Given the description of an element on the screen output the (x, y) to click on. 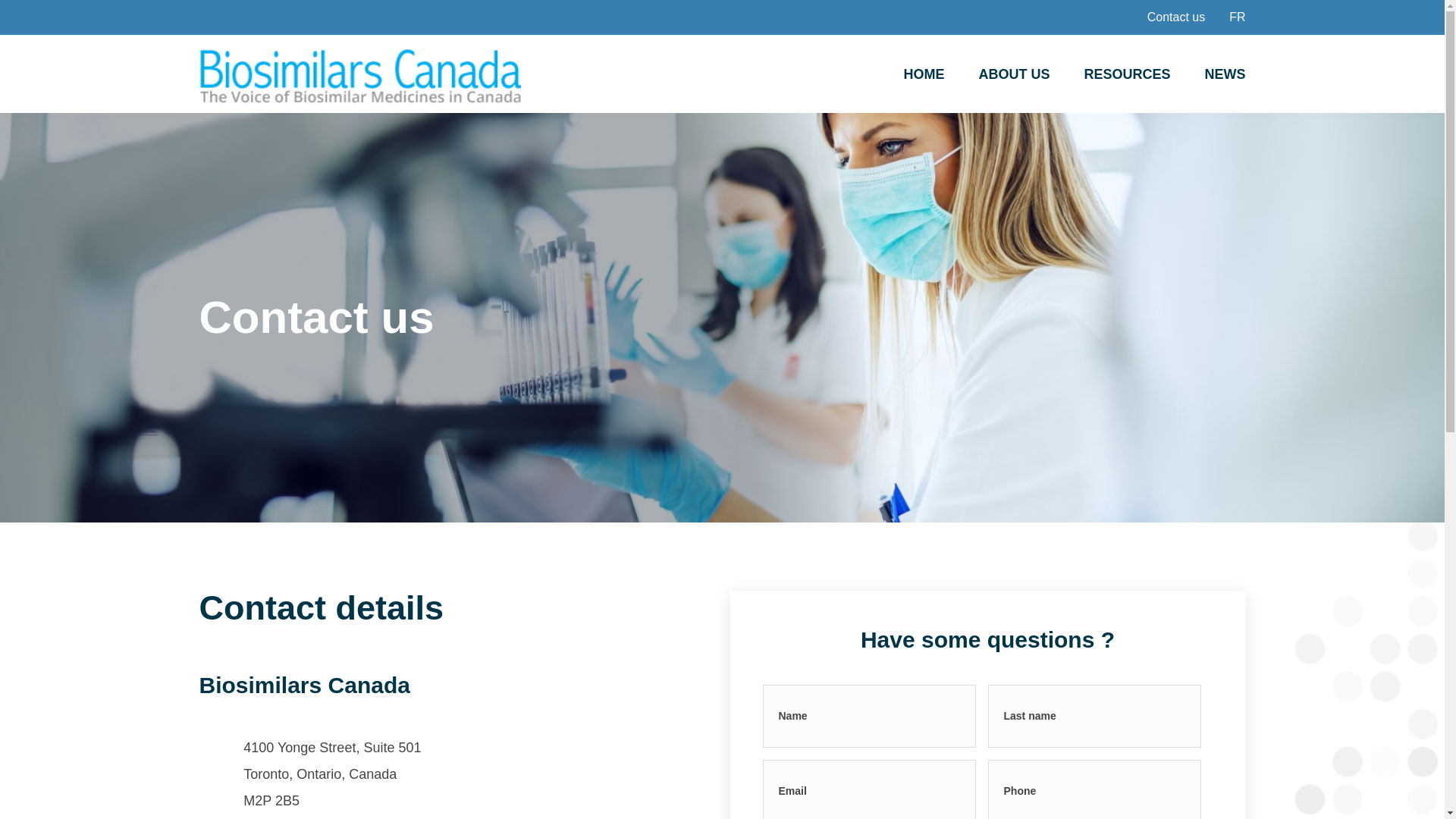
HOME Element type: text (923, 73)
Contact us Element type: text (1175, 17)
NEWS Element type: text (1224, 73)
RESOURCES Element type: text (1126, 73)
FR Element type: text (1237, 17)
ABOUT US Element type: text (1013, 73)
